Given the description of an element on the screen output the (x, y) to click on. 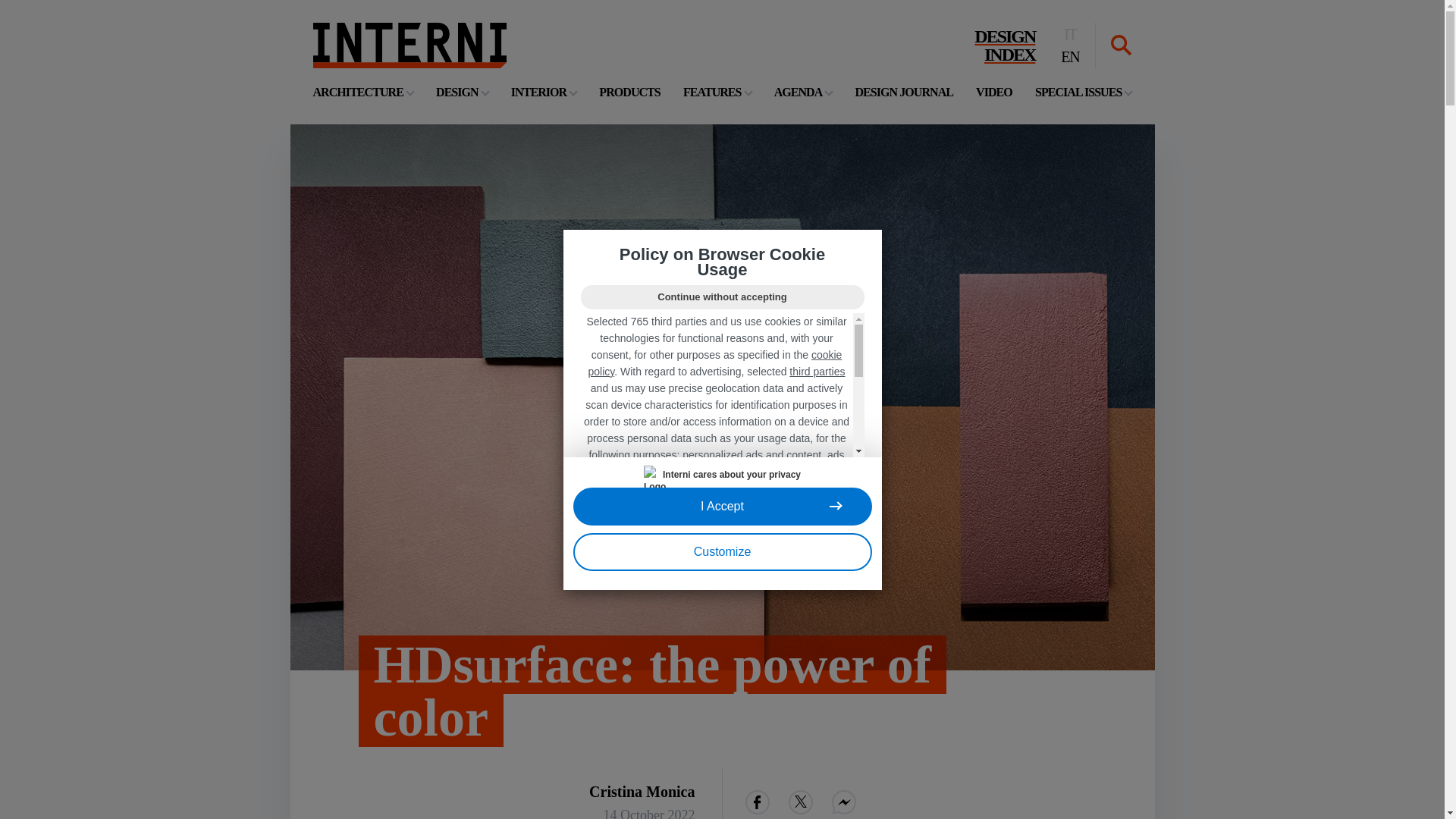
VIDEO (993, 91)
DESIGN (461, 91)
AGENDA (803, 91)
FEATURES (1004, 45)
ARCHITECTURE (716, 91)
PRODUCTS (362, 91)
HDsurface: the power of color (629, 91)
EN (691, 691)
INTERIOR (1069, 56)
interni magazine (543, 91)
DESIGN JOURNAL (409, 44)
SPECIAL ISSUES (903, 91)
IT (1083, 91)
interni magazine (1069, 33)
